Given the description of an element on the screen output the (x, y) to click on. 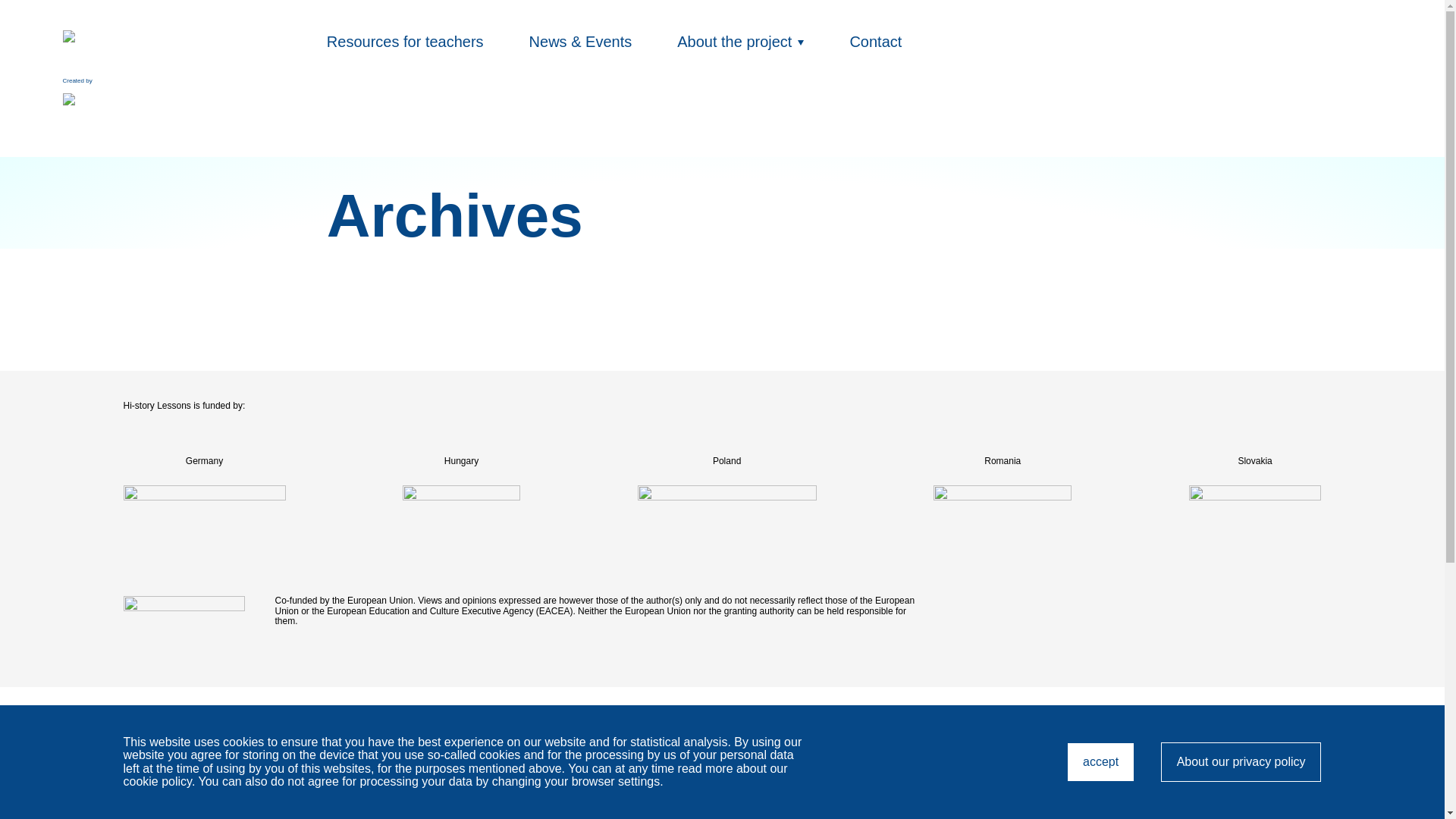
Home page (92, 45)
Resources for teachers (404, 41)
About our privacy policy (1241, 762)
European Network Remembrance and Solidarity (1100, 762)
About the project (721, 770)
Show search (740, 41)
European Network Remembrance and Solidarity (1371, 46)
Contact (92, 109)
